Given the description of an element on the screen output the (x, y) to click on. 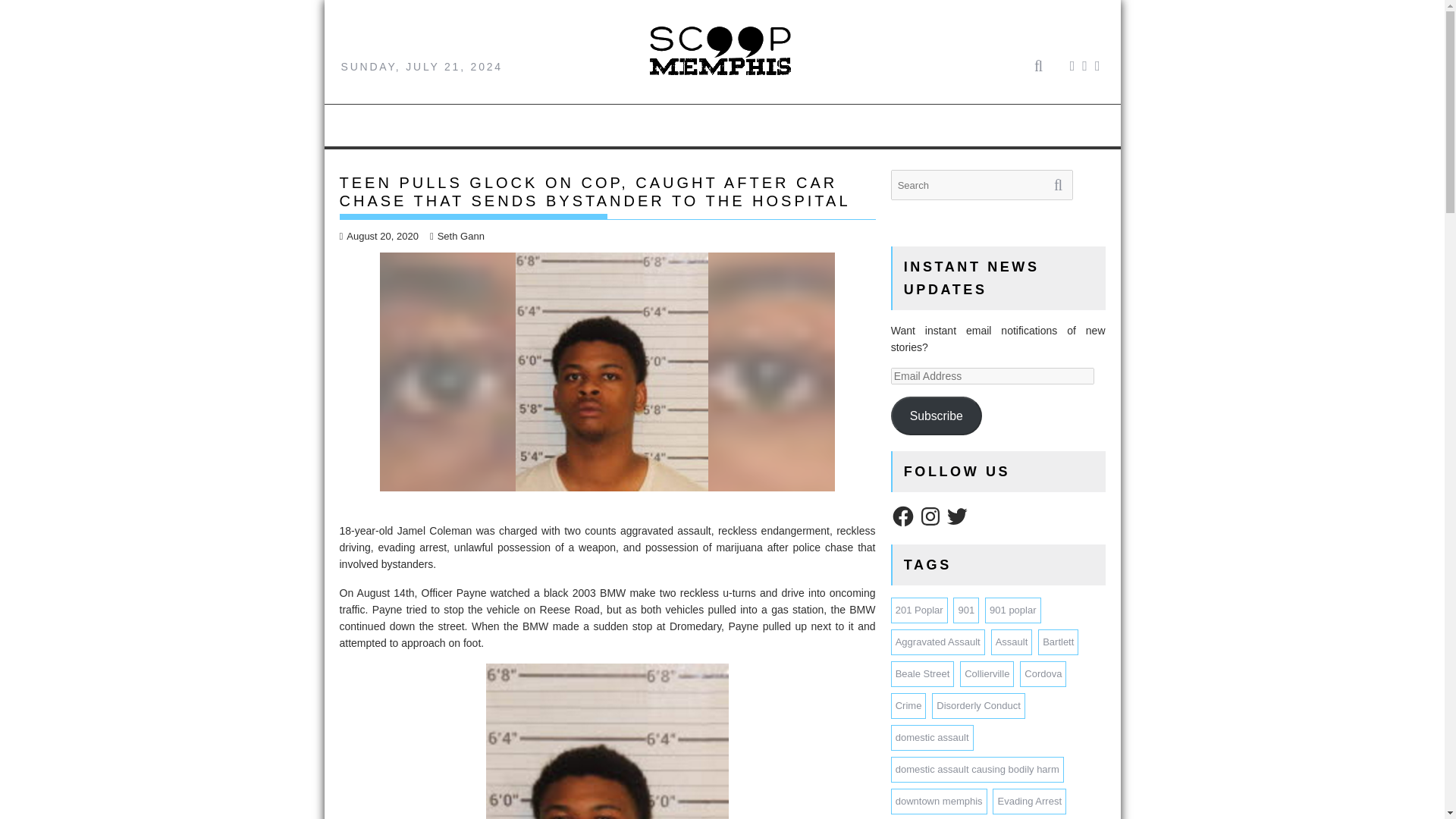
August 20, 2020 (379, 235)
Seth Gann (456, 235)
